Given the description of an element on the screen output the (x, y) to click on. 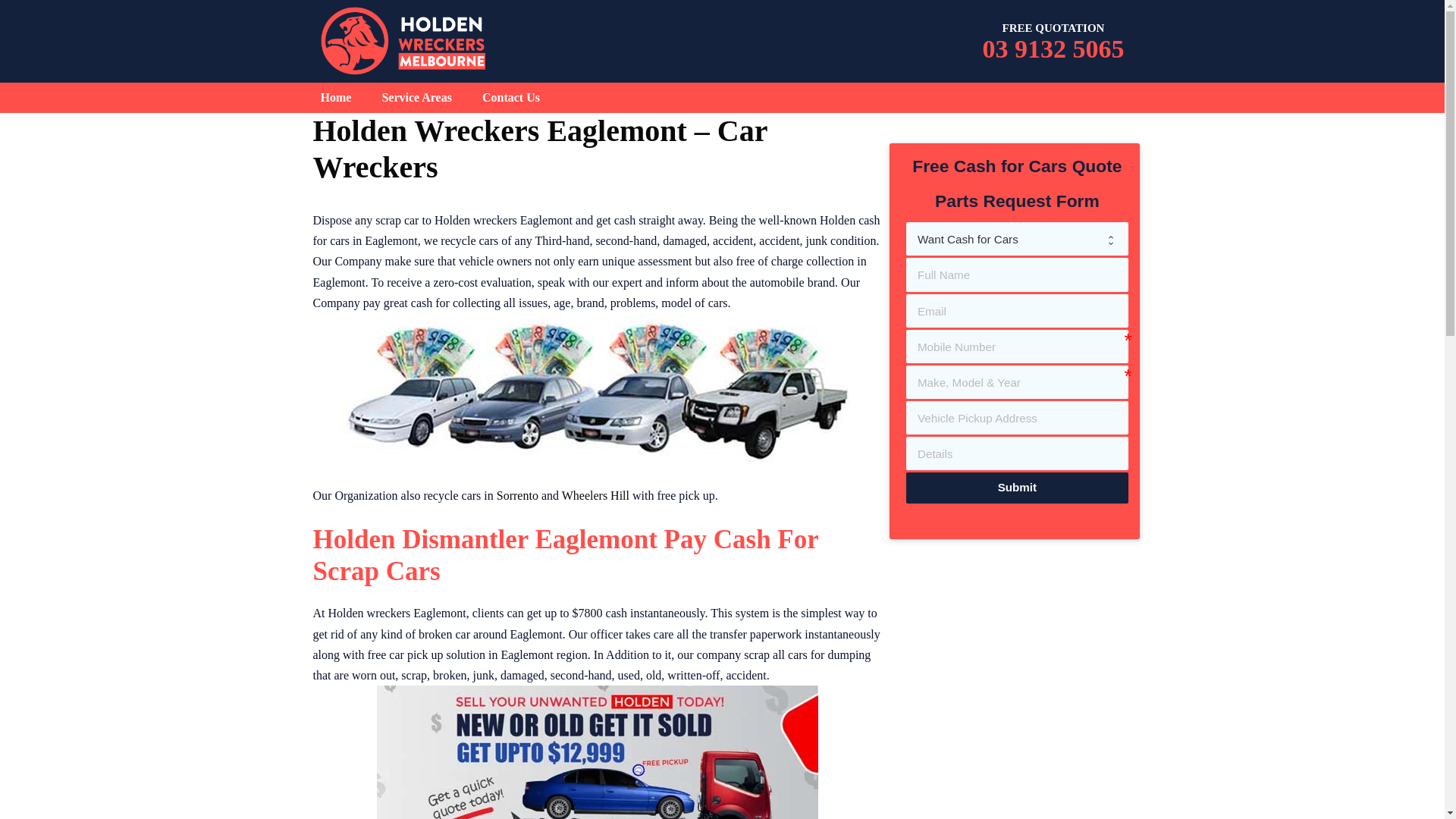
Cash for recycling registered Holden Cars Eaglemont Element type: hover (596, 388)
Service Areas Element type: text (416, 97)
Submit Element type: text (1016, 487)
Holden Wreckers Melbourne Element type: hover (403, 39)
Holden Wreckers Melbourne Element type: hover (403, 41)
Contact Us Element type: text (511, 97)
03 9132 5065 Element type: text (1053, 48)
Home Element type: text (335, 97)
Sorrento Element type: text (517, 495)
Wheelers Hill Element type: text (595, 495)
